Given the description of an element on the screen output the (x, y) to click on. 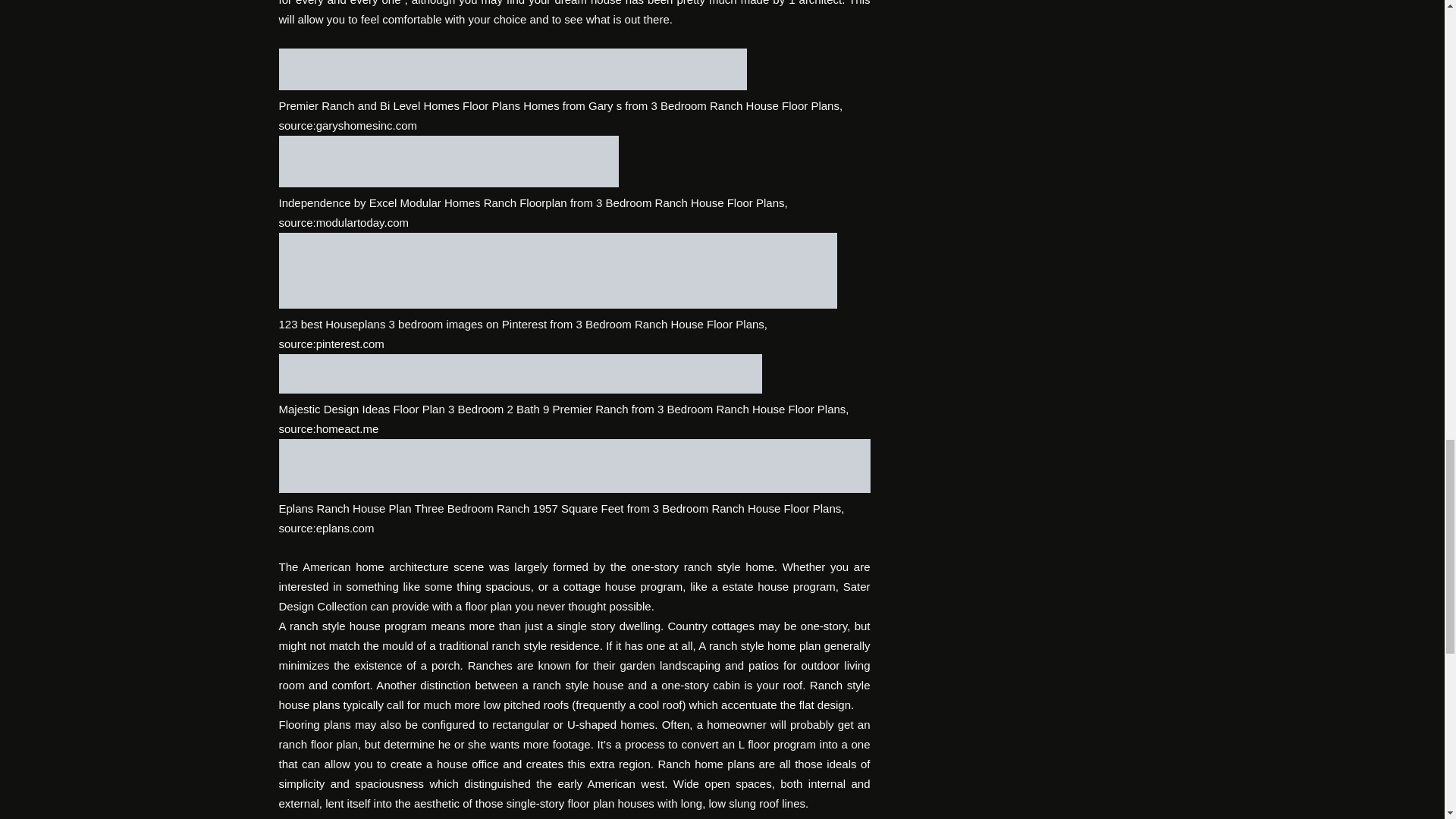
Independence by Excel Modular Homes Ranch Floorplan (448, 161)
123 best Houseplans 3 bedroom images on Pinterest (558, 270)
Eplans Ranch House Plan Three Bedroom Ranch 1957 Square Feet (574, 465)
